Given the description of an element on the screen output the (x, y) to click on. 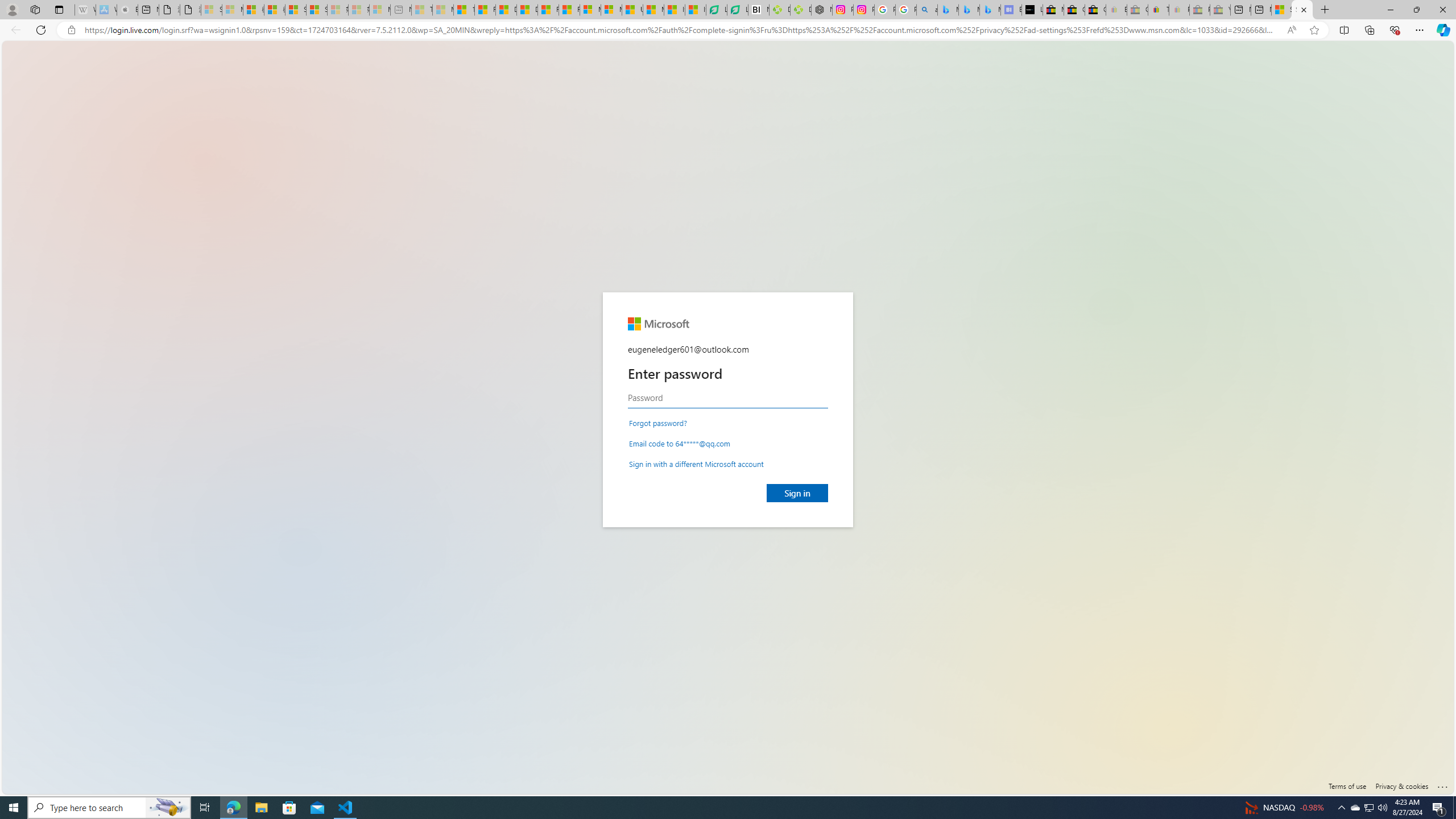
Click here for troubleshooting information (1442, 784)
Foo BAR | Trusted Community Engagement and Contributions (569, 9)
Microsoft Bing Travel - Shangri-La Hotel Bangkok (990, 9)
